Given the description of an element on the screen output the (x, y) to click on. 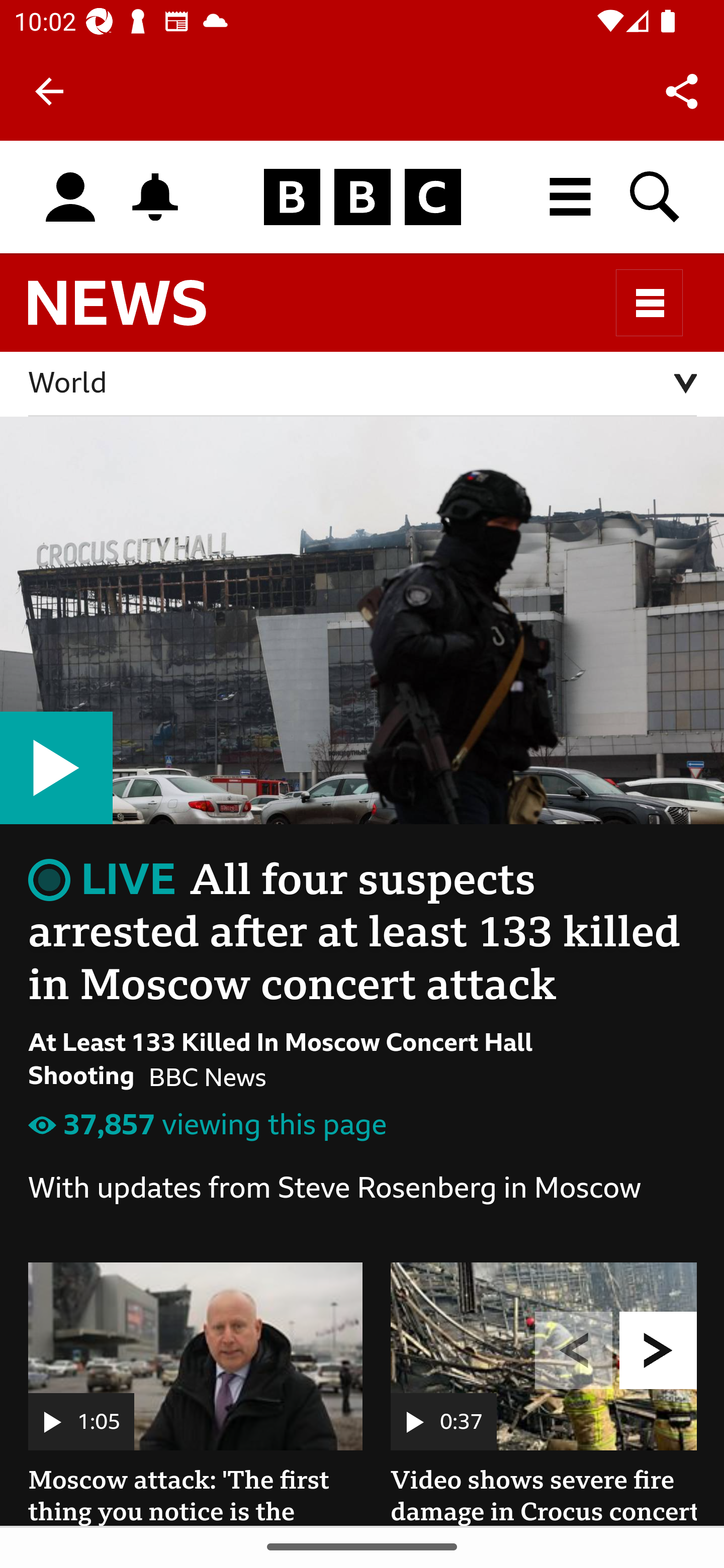
Back (49, 91)
Share (681, 90)
